Given the description of an element on the screen output the (x, y) to click on. 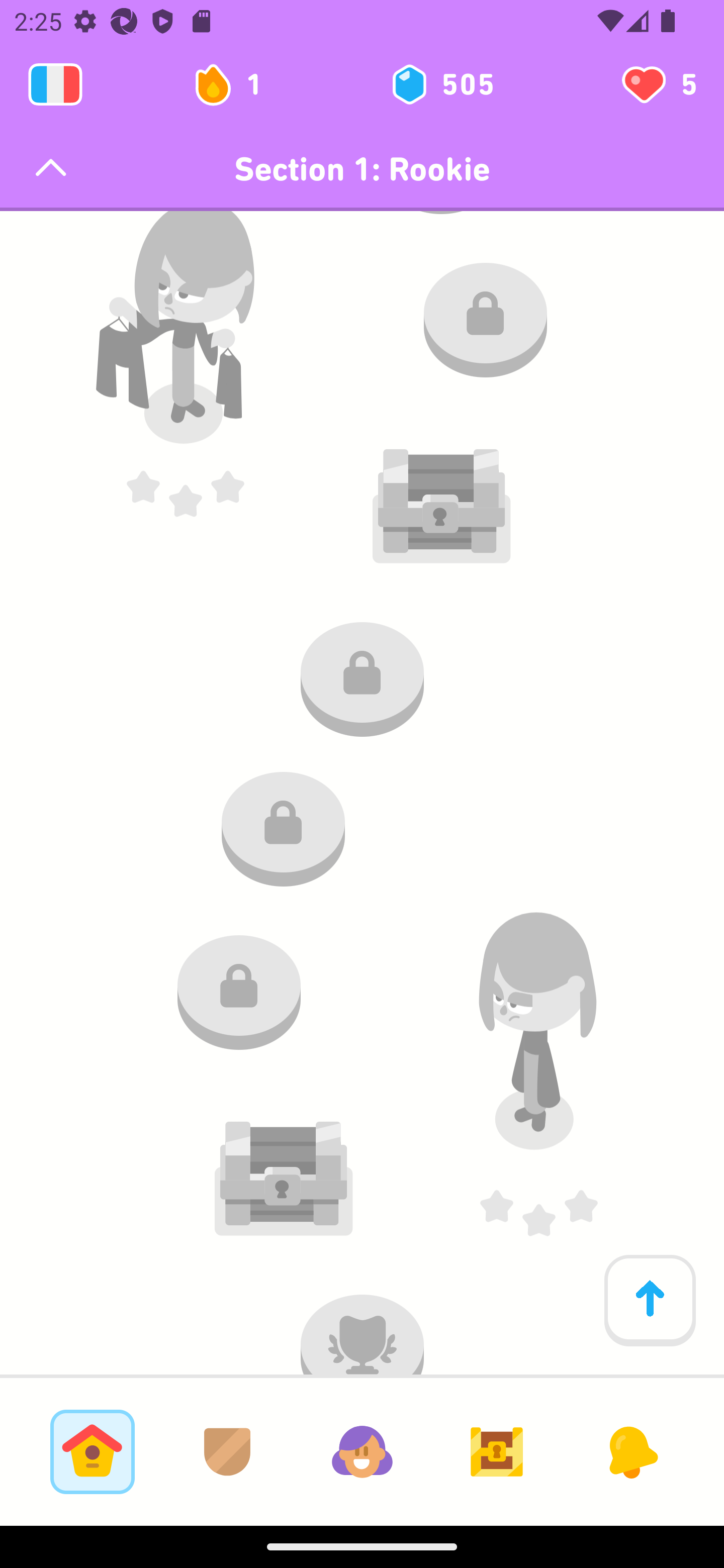
Learning 2131888976 (55, 84)
1 day streak 1 (236, 84)
505 (441, 84)
You have 5 hearts left 5 (657, 84)
Section 1: Rookie (362, 169)
Learn Tab (91, 1451)
Leagues Tab (227, 1451)
Profile Tab (361, 1451)
Goals Tab (496, 1451)
News Tab (631, 1451)
